Given the description of an element on the screen output the (x, y) to click on. 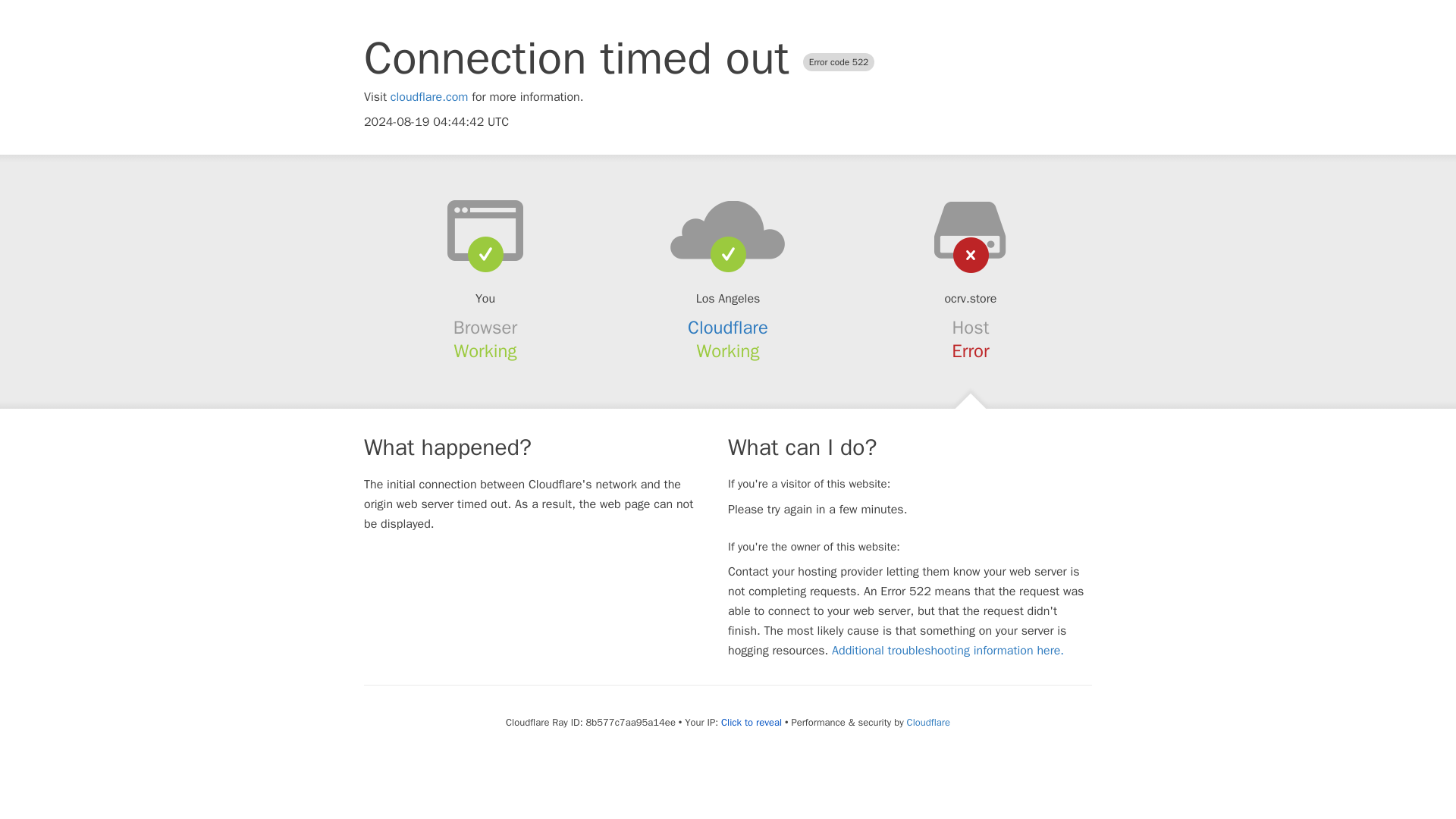
Cloudflare (928, 721)
cloudflare.com (429, 96)
Additional troubleshooting information here. (947, 650)
Click to reveal (750, 722)
Cloudflare (727, 327)
